Given the description of an element on the screen output the (x, y) to click on. 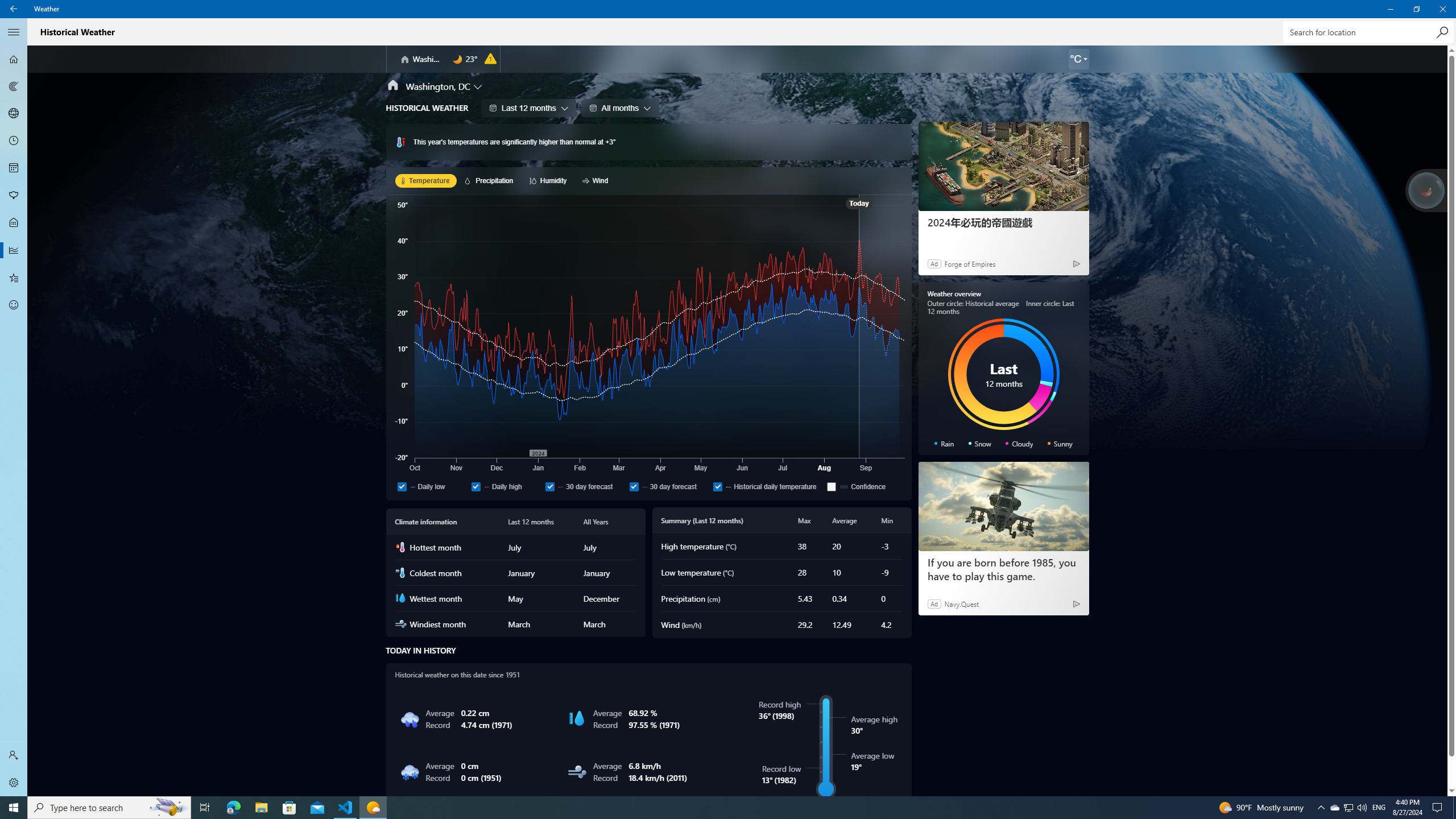
Search highlights icon opens search home window (1333, 807)
Restore Weather (167, 807)
Send Feedback - Not Selected (1416, 9)
3D Maps - Not Selected (13, 304)
